Given the description of an element on the screen output the (x, y) to click on. 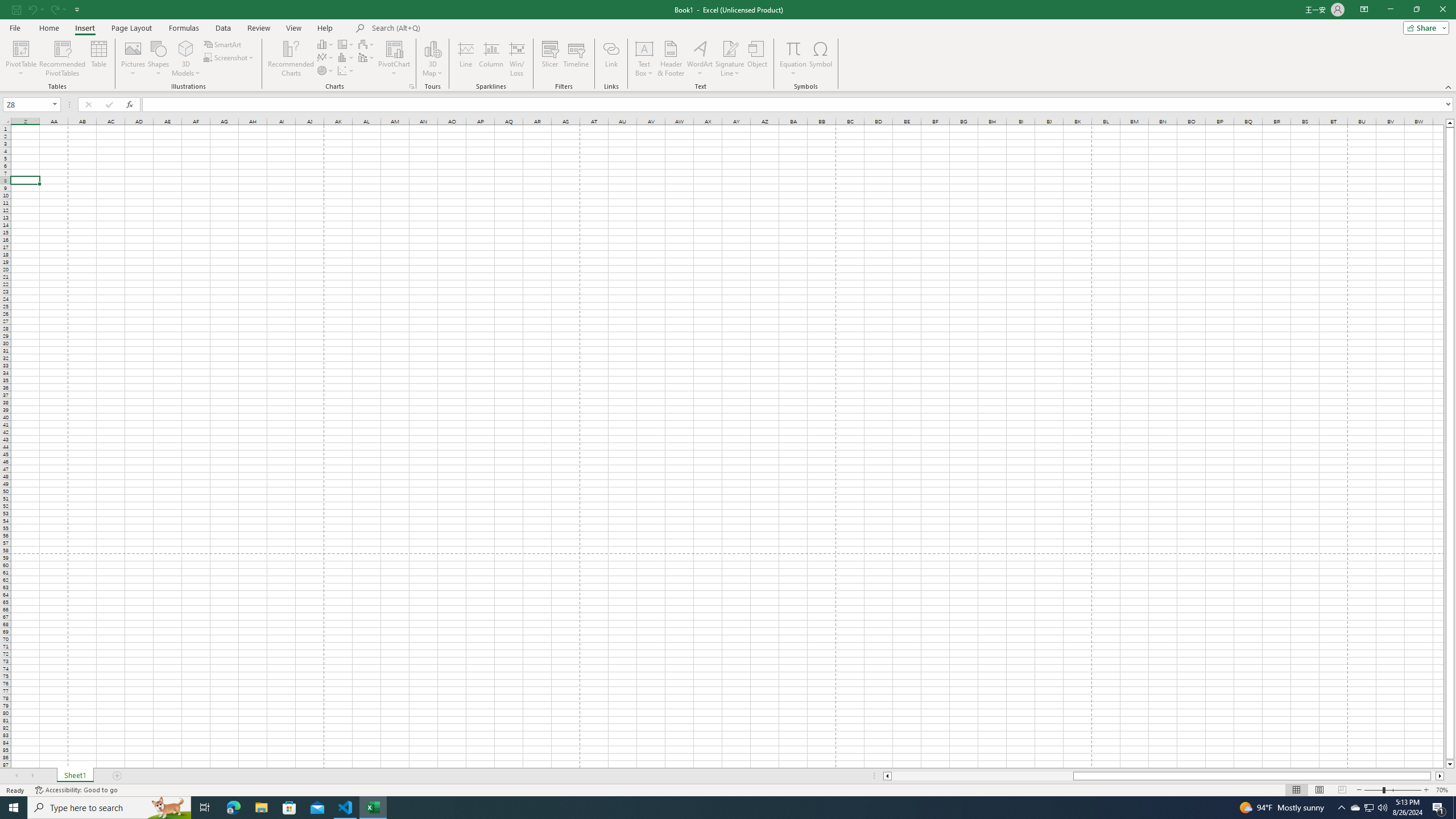
SmartArt... (223, 44)
Header & Footer... (670, 58)
Object... (757, 58)
Text Box (643, 58)
Insert Combo Chart (366, 56)
